Given the description of an element on the screen output the (x, y) to click on. 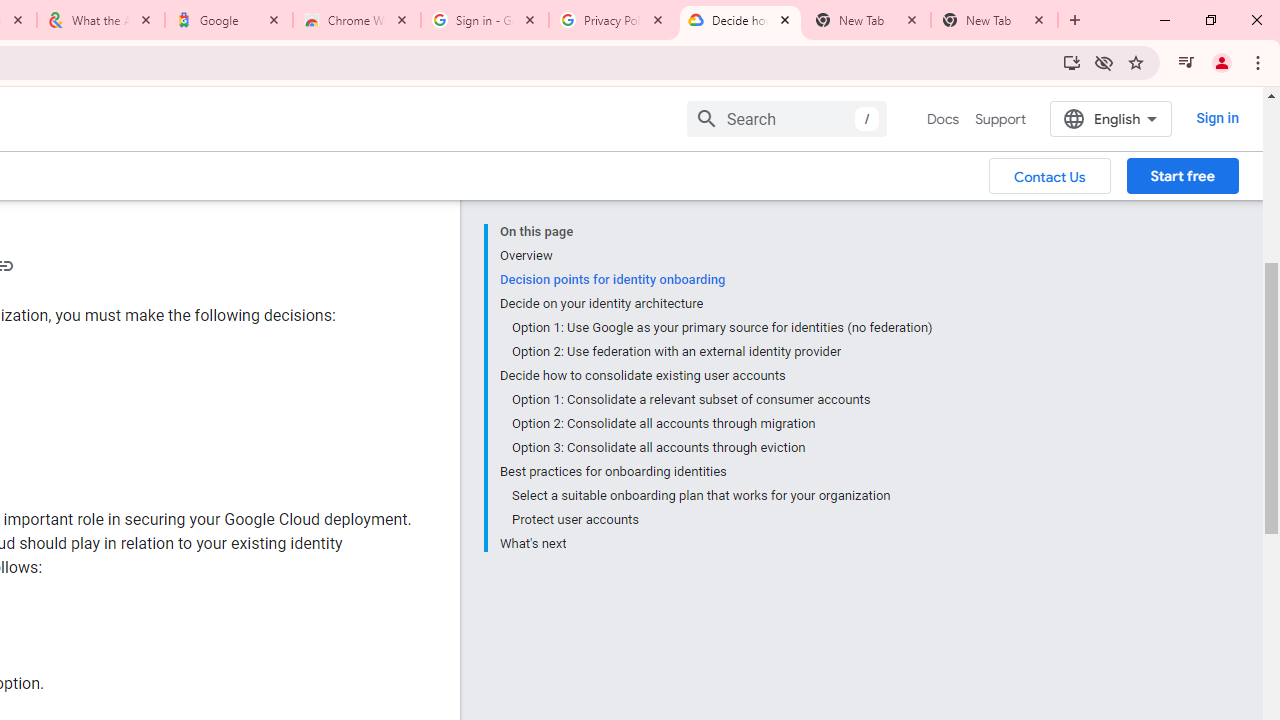
Option 2: Consolidate all accounts through migration (721, 423)
English (1110, 118)
Decide on your identity architecture (716, 304)
Decision points for identity onboarding (716, 279)
New Tab (994, 20)
Decide how to consolidate existing user accounts (716, 376)
Option 1: Consolidate a relevant subset of consumer accounts (721, 399)
